Given the description of an element on the screen output the (x, y) to click on. 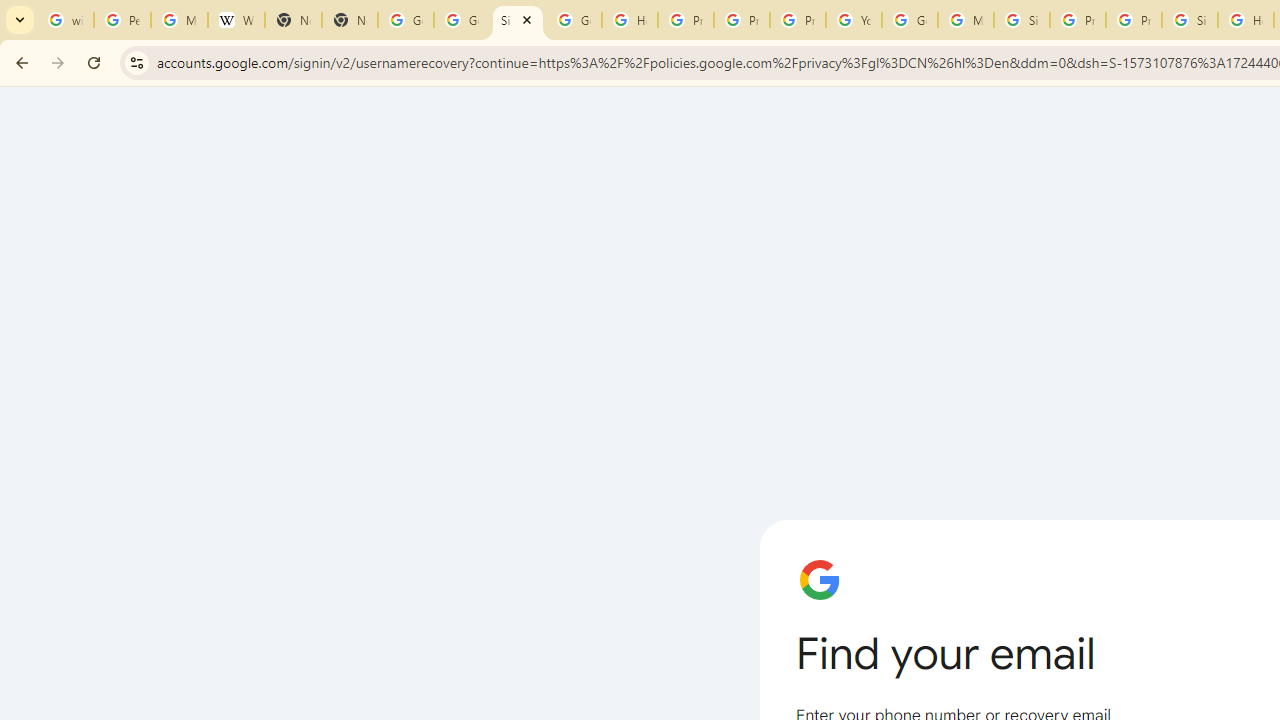
Google Account Help (909, 20)
New Tab (349, 20)
Manage your Location History - Google Search Help (179, 20)
New Tab (293, 20)
Google Drive: Sign-in (461, 20)
Sign in - Google Accounts (1190, 20)
YouTube (853, 20)
